Given the description of an element on the screen output the (x, y) to click on. 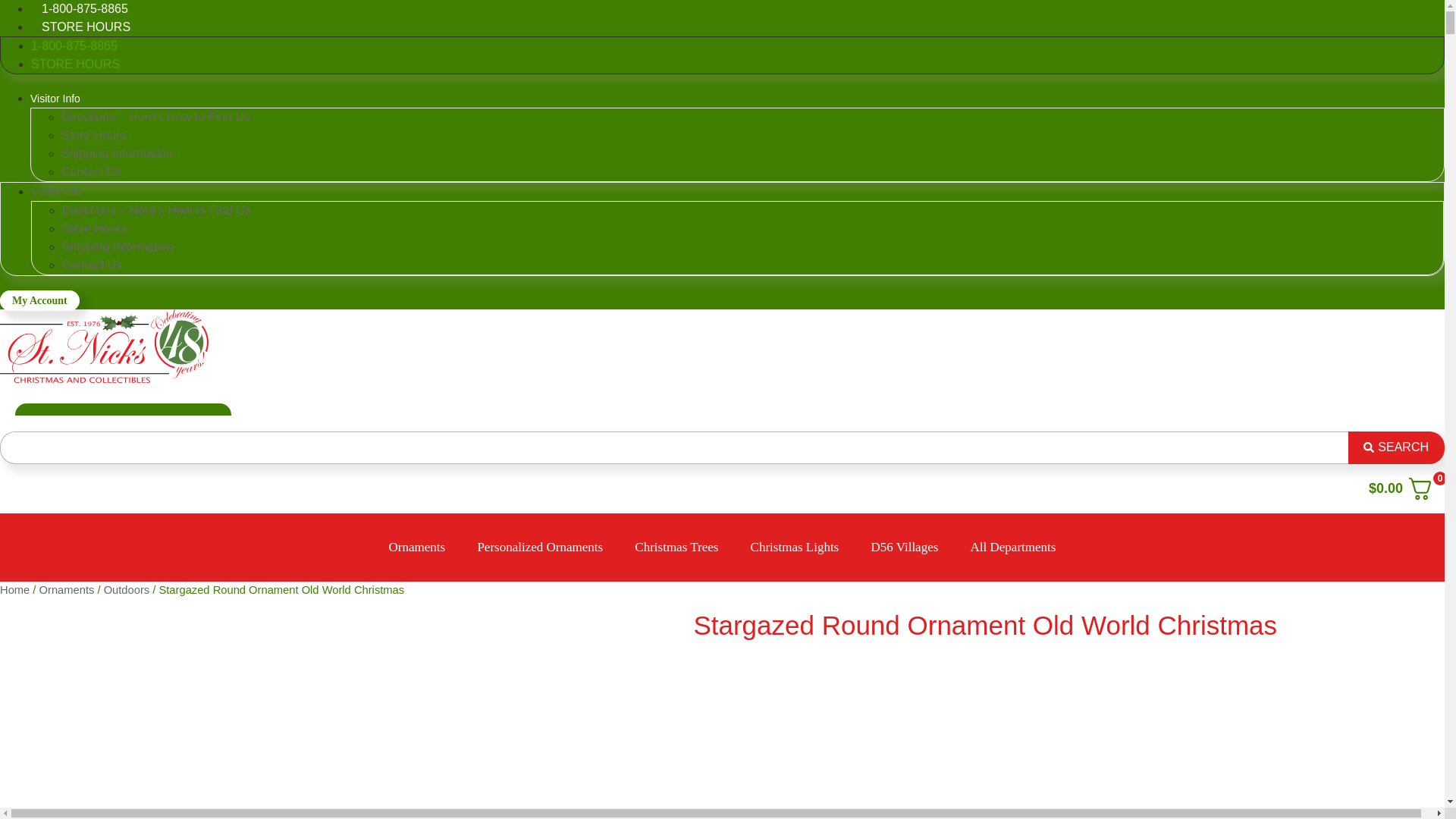
Contact Us (92, 264)
Shipping Information (117, 246)
SEARCH (1396, 447)
1-800-875-8865 (84, 13)
stnicks-48 - christmas store (104, 346)
Store Hours (94, 228)
Visitor Info (55, 98)
STORE HOURS (74, 63)
STORE HOURS (85, 27)
Contact Us (90, 171)
